Given the description of an element on the screen output the (x, y) to click on. 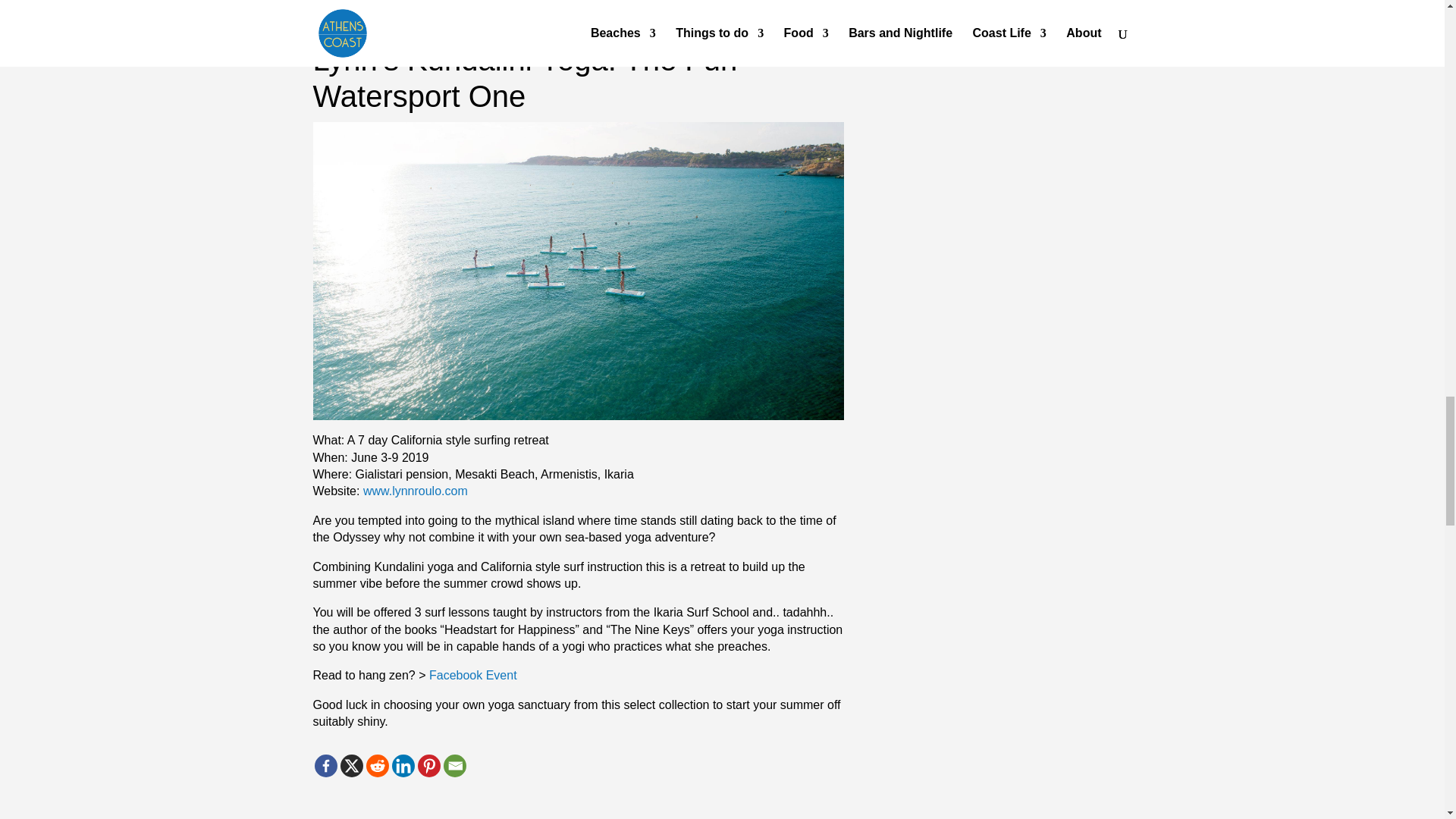
Reddit (376, 765)
Pinterest (427, 765)
Email (453, 765)
Facebook (325, 765)
Linkedin (402, 765)
X (350, 765)
